Given the description of an element on the screen output the (x, y) to click on. 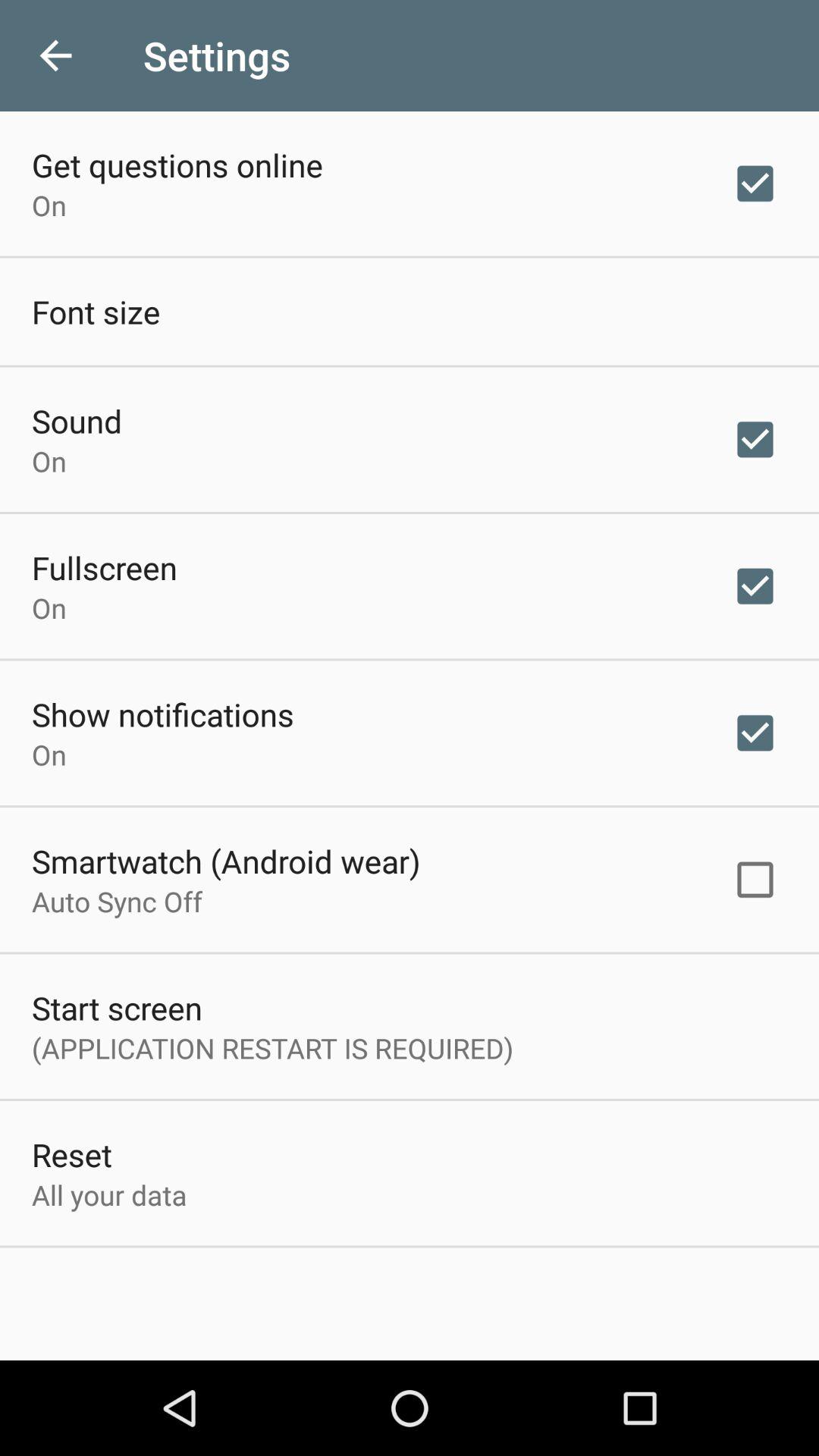
jump until the reset (71, 1154)
